Given the description of an element on the screen output the (x, y) to click on. 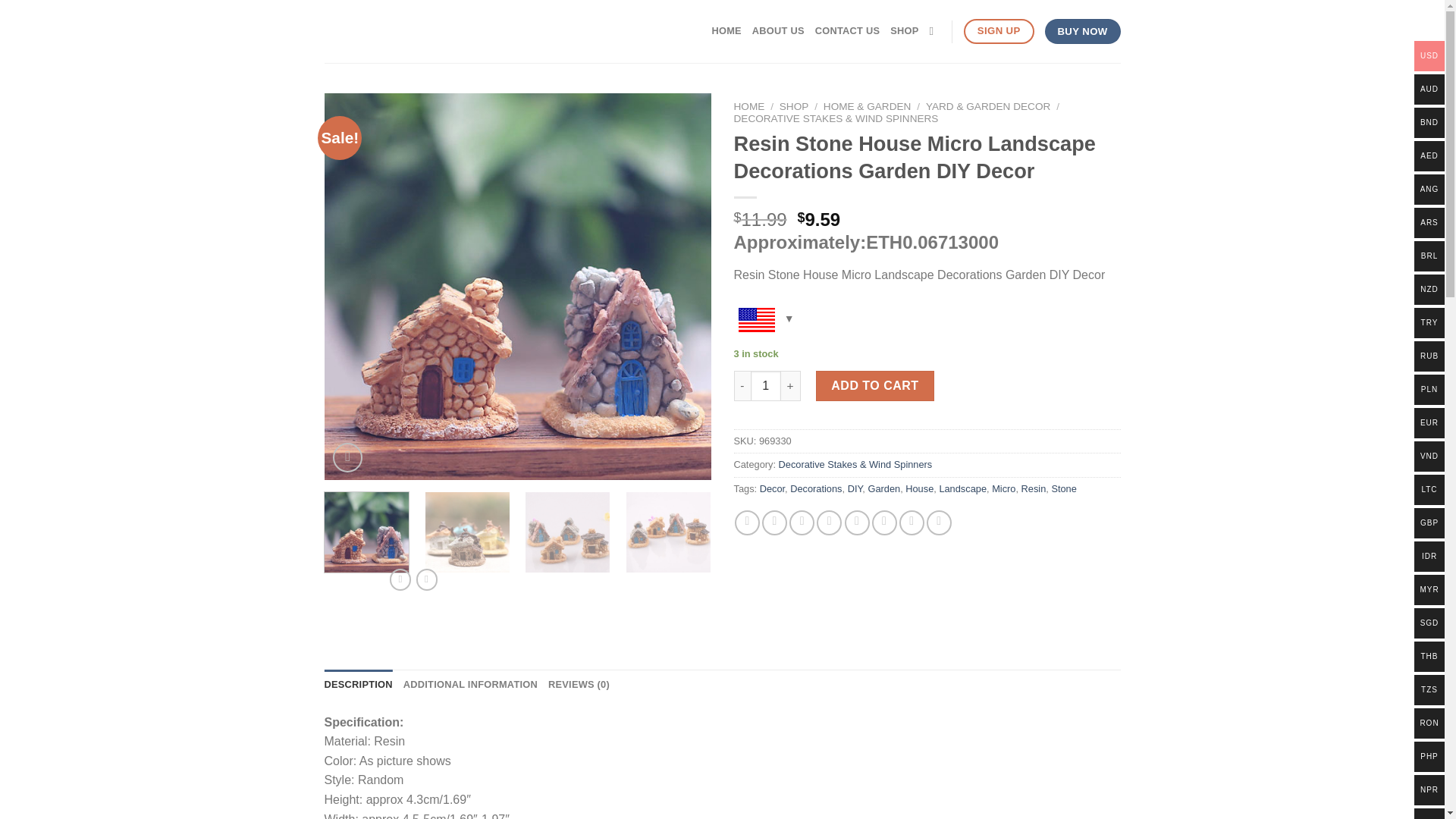
1 (765, 386)
HOME (749, 106)
CONTACT US (847, 30)
SHOP (903, 30)
ABOUT US (778, 30)
Zoom (347, 457)
SHOP (793, 106)
SIGN UP (998, 31)
HOME (726, 30)
